Given the description of an element on the screen output the (x, y) to click on. 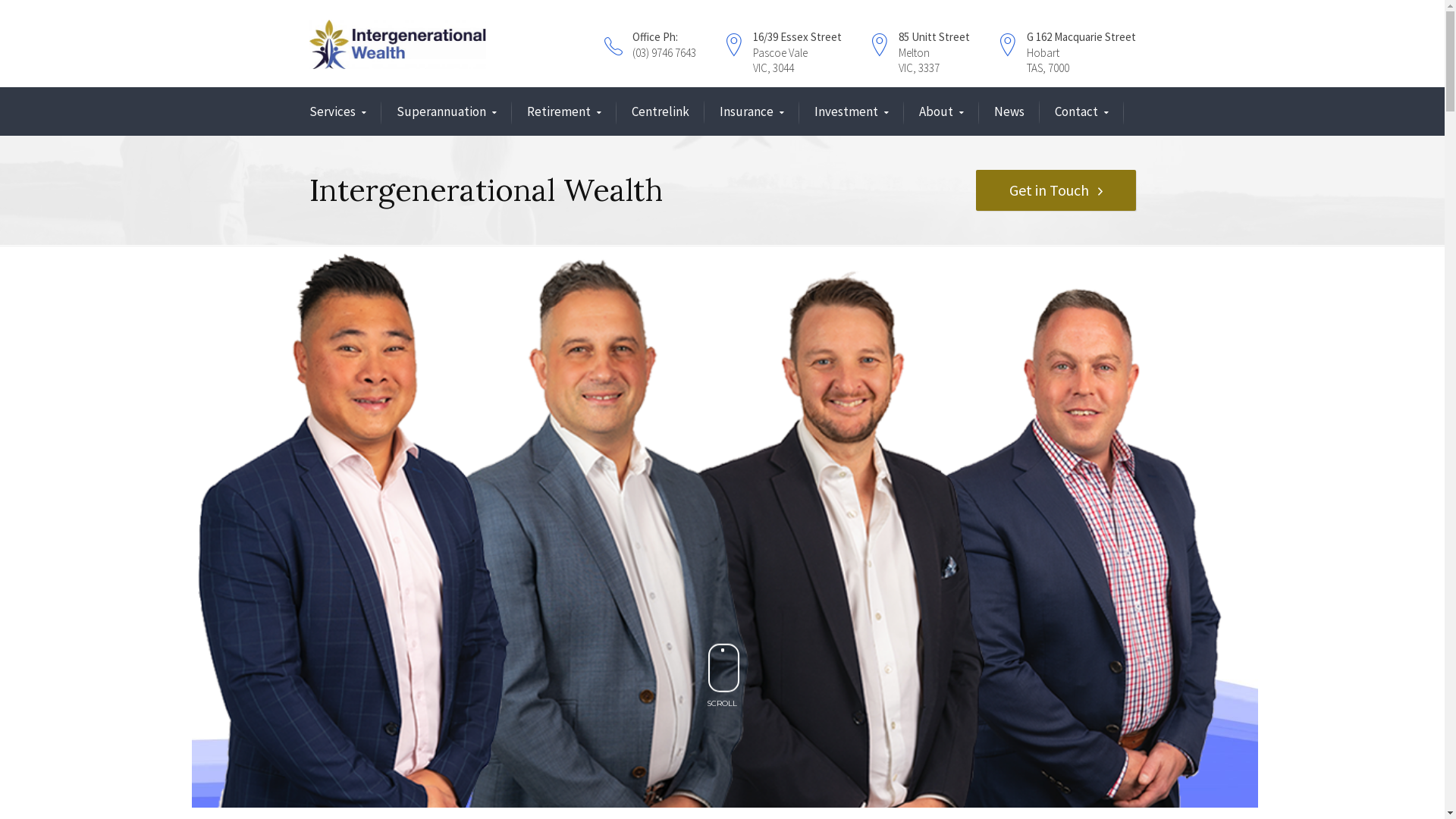
Superannuation Element type: text (445, 112)
Investment Element type: text (851, 112)
Centrelink Element type: text (659, 111)
Contact Element type: text (1080, 112)
Insurance Element type: text (750, 112)
About Element type: text (941, 112)
Get in Touch Element type: text (1055, 189)
News Element type: text (1008, 111)
Services Element type: text (337, 112)
(03) 9746 7643 Element type: text (664, 52)
Retirement Element type: text (563, 112)
